Given the description of an element on the screen output the (x, y) to click on. 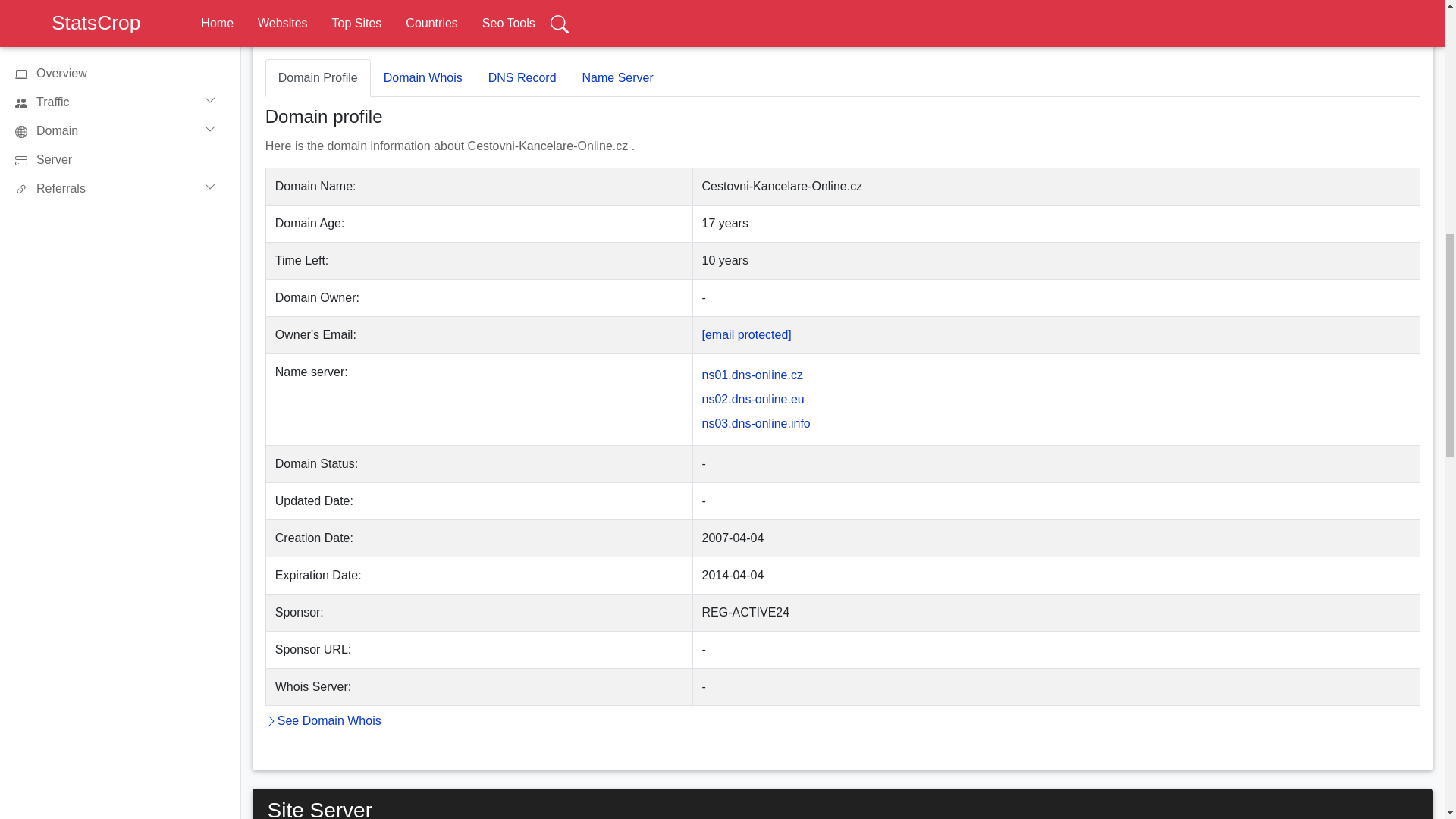
DNS Record (522, 77)
Domain Whois (423, 77)
Domain Profile (317, 77)
ns01.dns-online.cz (752, 374)
ns01.dns-online.cz (752, 374)
Name Server (617, 77)
ns03.dns-online.info (755, 422)
ns02.dns-online.eu (753, 399)
